Given the description of an element on the screen output the (x, y) to click on. 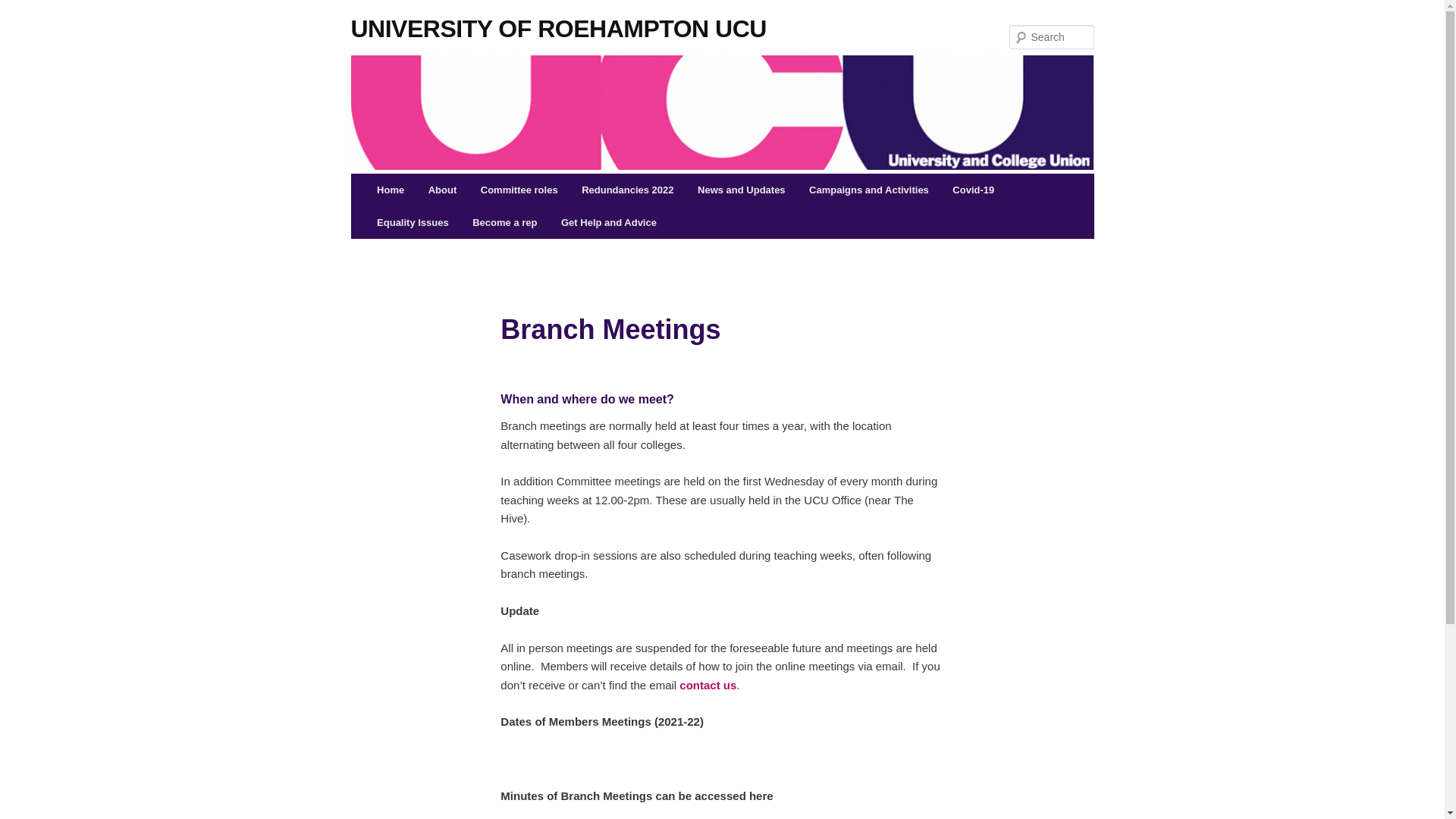
Committee roles (518, 189)
About (442, 189)
Home (390, 189)
News and Updates (740, 189)
Search (24, 8)
UNIVERSITY OF ROEHAMPTON UCU (557, 25)
Redundancies 2022 (627, 189)
